Given the description of an element on the screen output the (x, y) to click on. 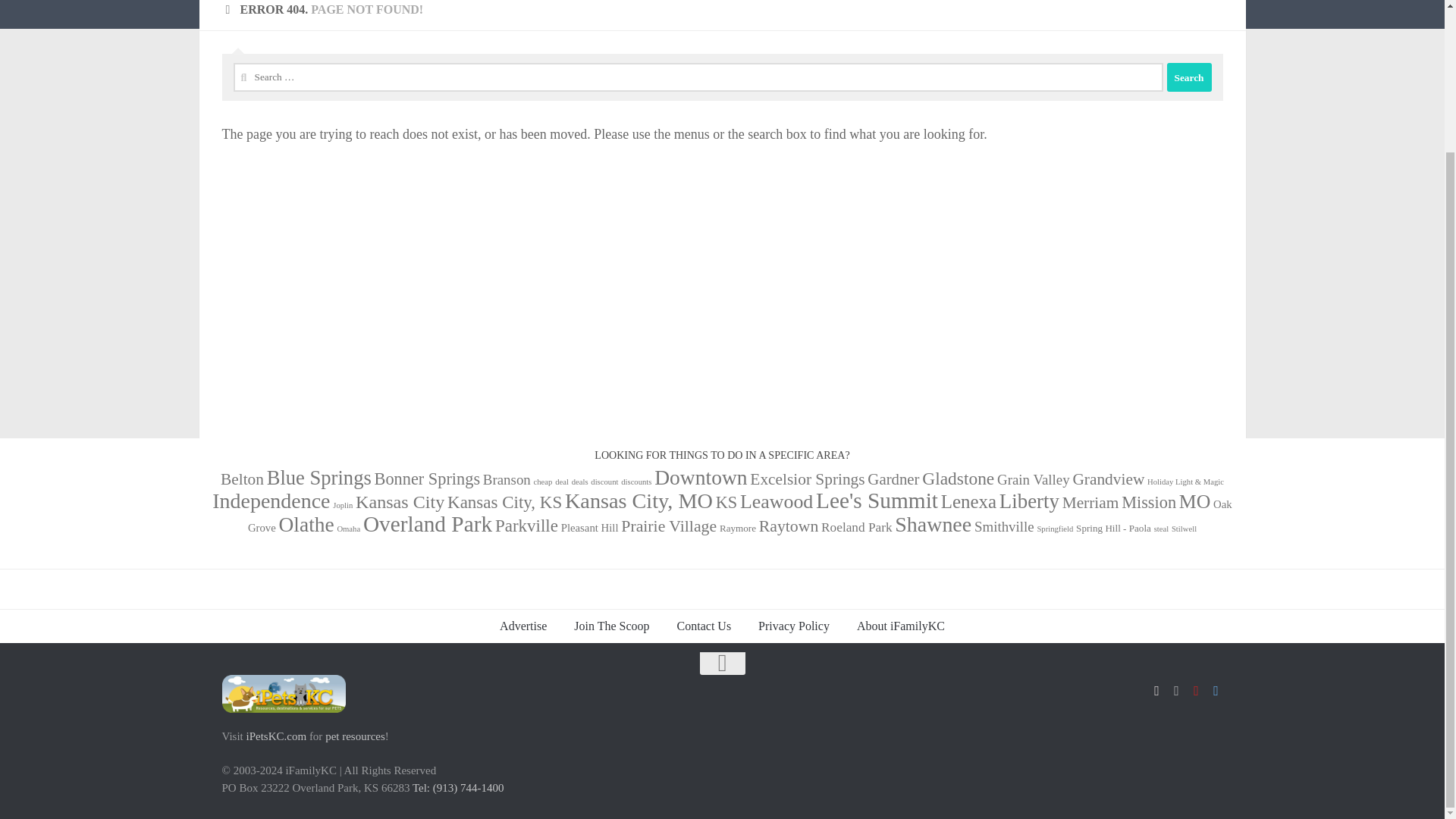
Search (1188, 77)
Follow us on Facebook (1156, 690)
Follow iFam on Instagram (1175, 690)
Follow us on Twitter (1215, 690)
Search (1188, 77)
Follow us on Pinterest (1195, 690)
